Given the description of an element on the screen output the (x, y) to click on. 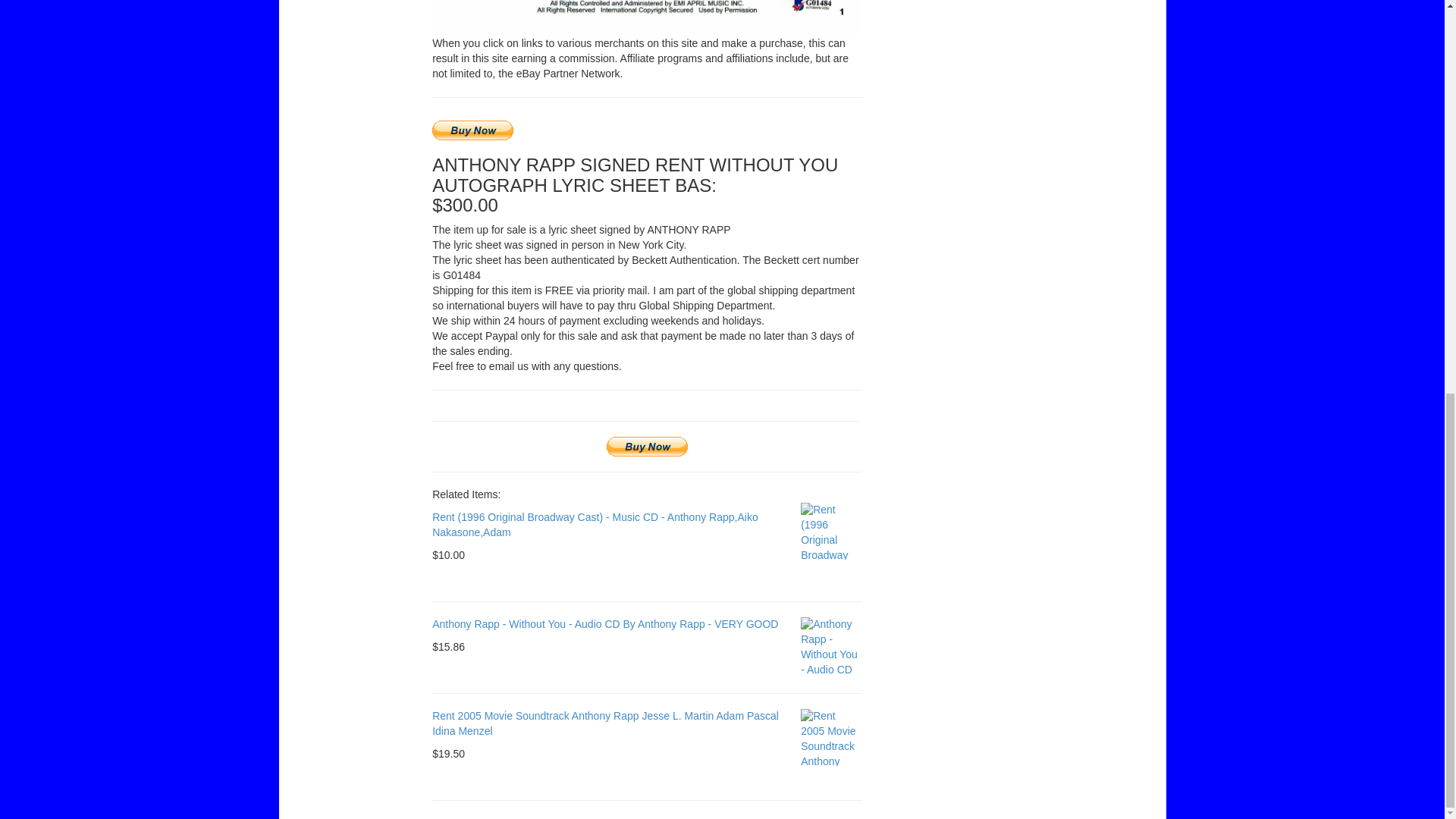
Buy Now (647, 446)
Buy Now (472, 130)
